Given the description of an element on the screen output the (x, y) to click on. 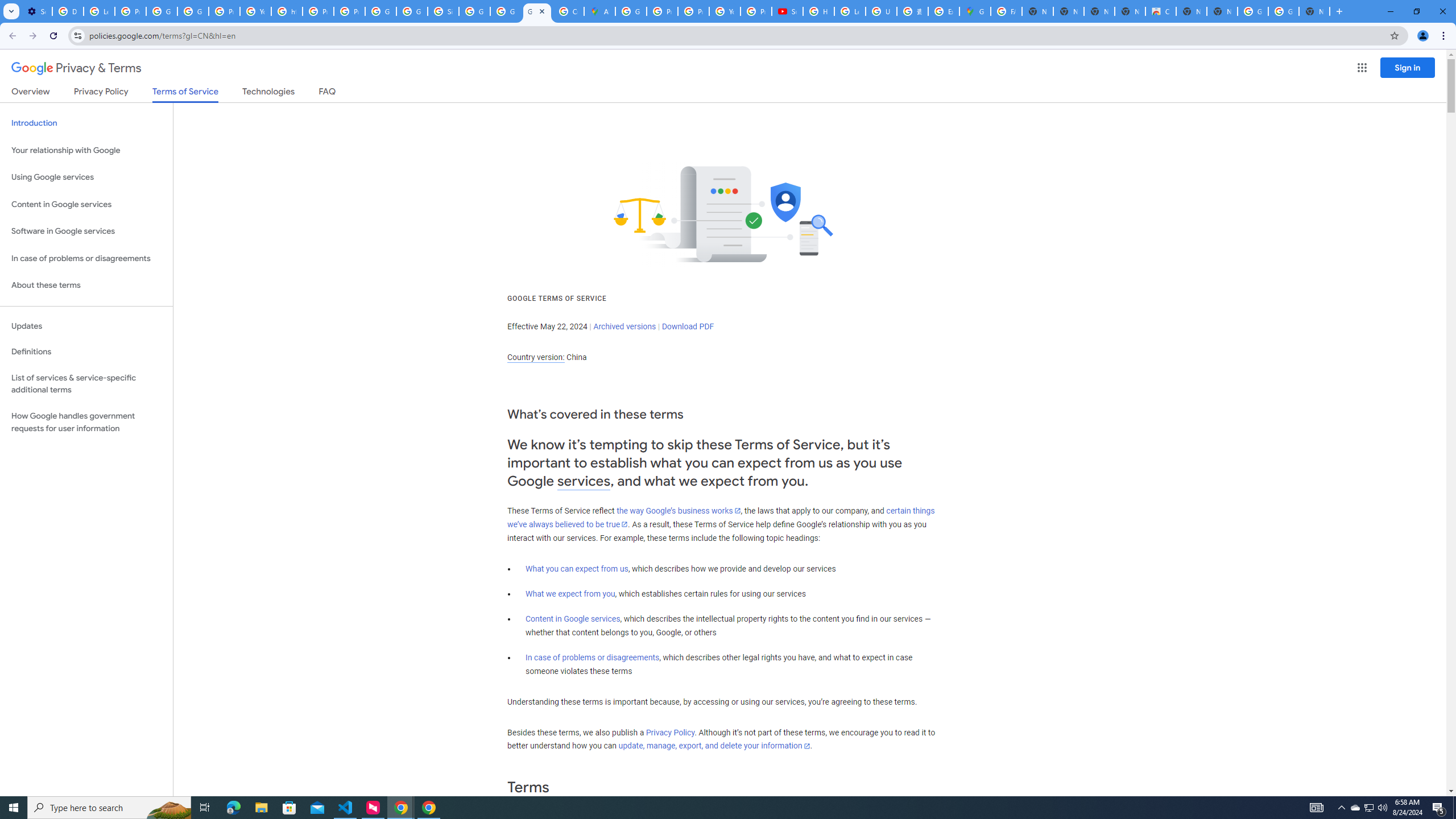
About these terms (86, 284)
Privacy Help Center - Policies Help (693, 11)
update, manage, export, and delete your information (714, 746)
services (583, 480)
Content in Google services (572, 618)
Using Google services (86, 176)
YouTube (255, 11)
